Given the description of an element on the screen output the (x, y) to click on. 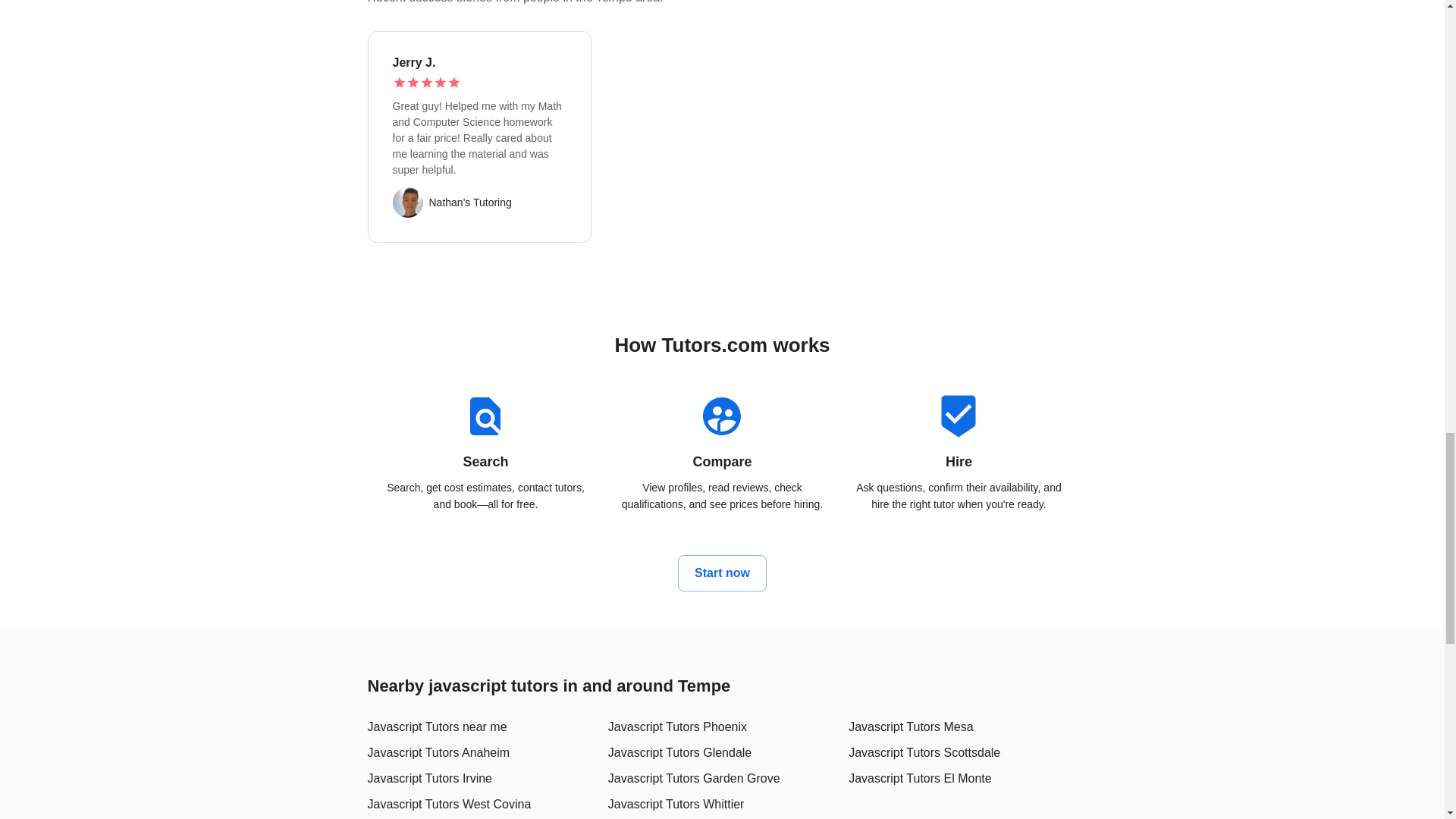
Start now (722, 573)
Javascript Tutors near me (436, 726)
Javascript Tutors Phoenix (677, 726)
Javascript Tutors Anaheim (437, 752)
Javascript Tutors Mesa (911, 726)
